Given the description of an element on the screen output the (x, y) to click on. 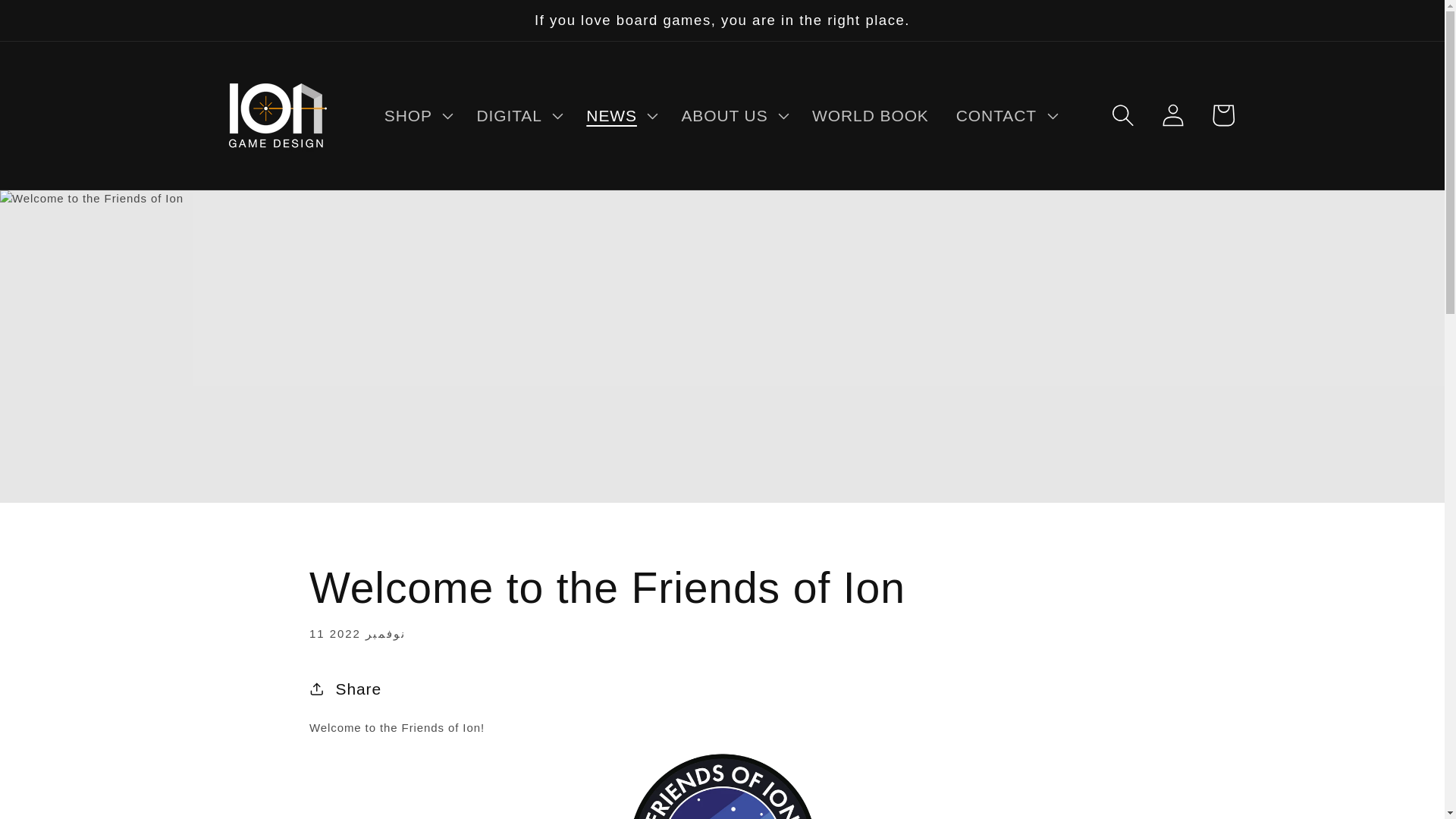
Skip to content (69, 27)
